Given the description of an element on the screen output the (x, y) to click on. 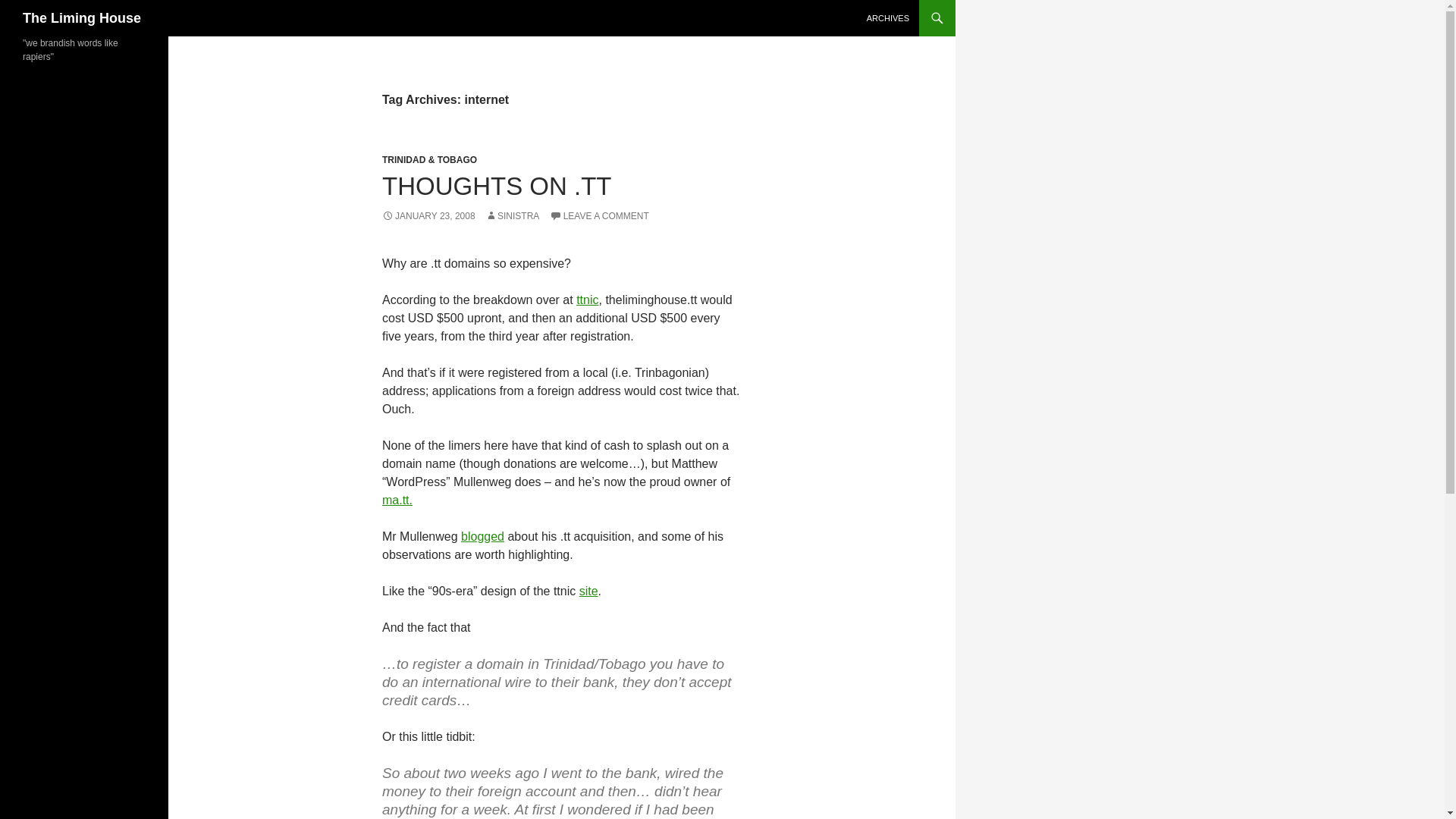
SINISTRA (511, 215)
site (588, 590)
blogged (482, 535)
THOUGHTS ON .TT (496, 185)
The Liming House (82, 18)
ma.tt. (396, 499)
External link to Matt Mullenweg (482, 535)
ttnic (587, 299)
ARCHIVES (887, 18)
JANUARY 23, 2008 (428, 215)
